Given the description of an element on the screen output the (x, y) to click on. 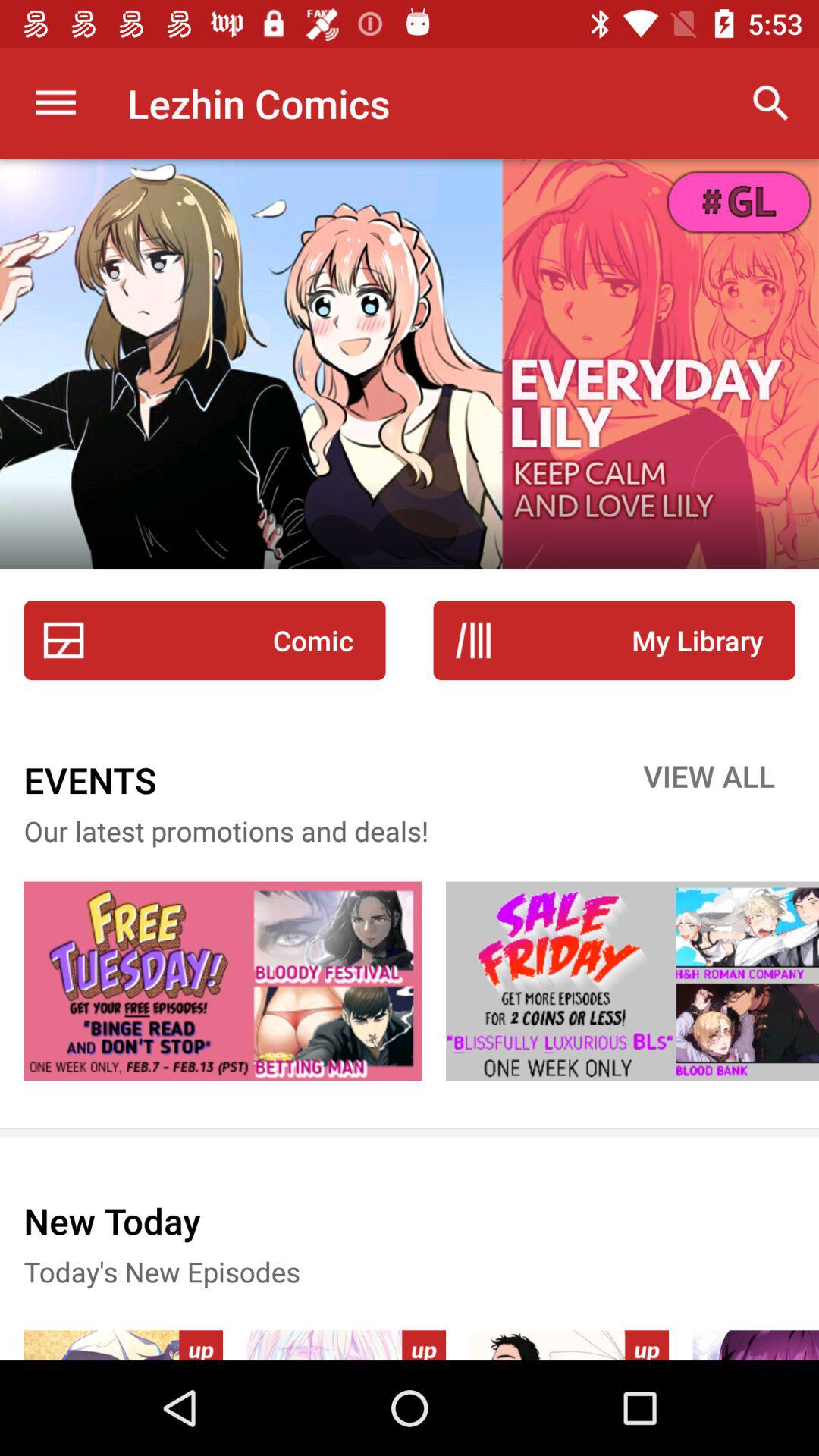
go to website (632, 980)
